Given the description of an element on the screen output the (x, y) to click on. 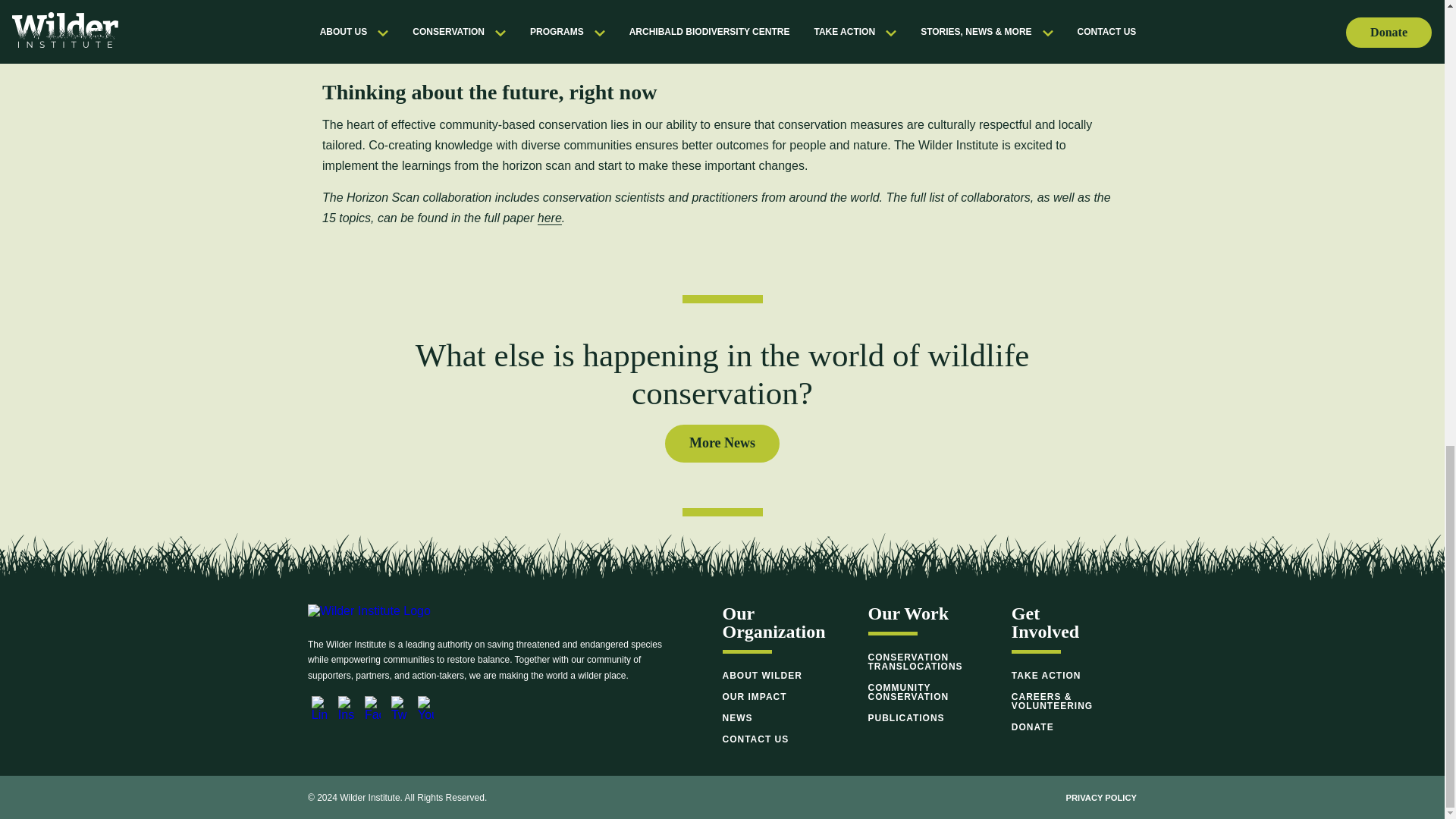
Wilder Homepage (368, 620)
